Given the description of an element on the screen output the (x, y) to click on. 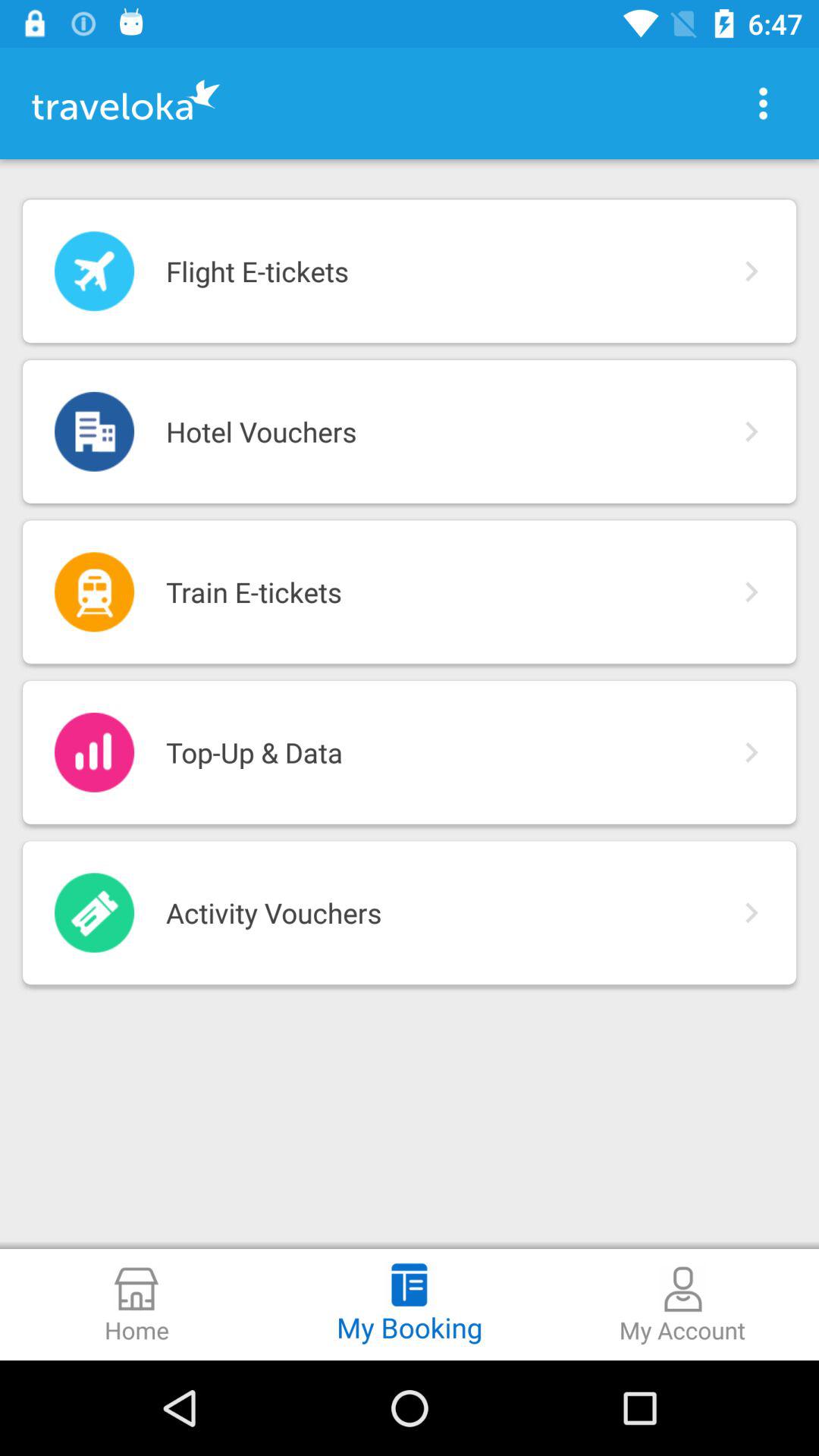
open menu (763, 103)
